Given the description of an element on the screen output the (x, y) to click on. 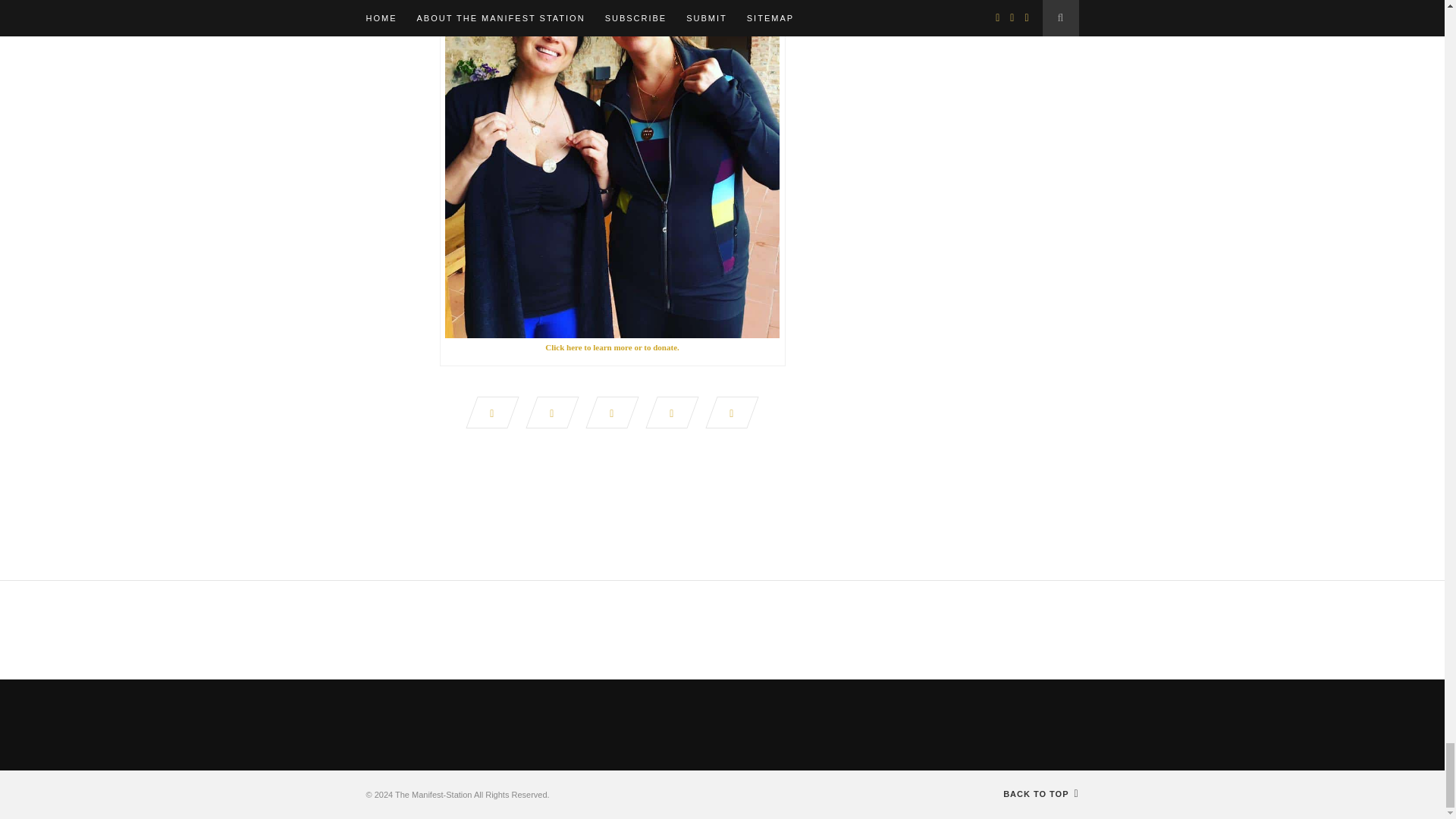
Click here to learn more or to donate. (611, 347)
BACK TO TOP (1040, 793)
